Given the description of an element on the screen output the (x, y) to click on. 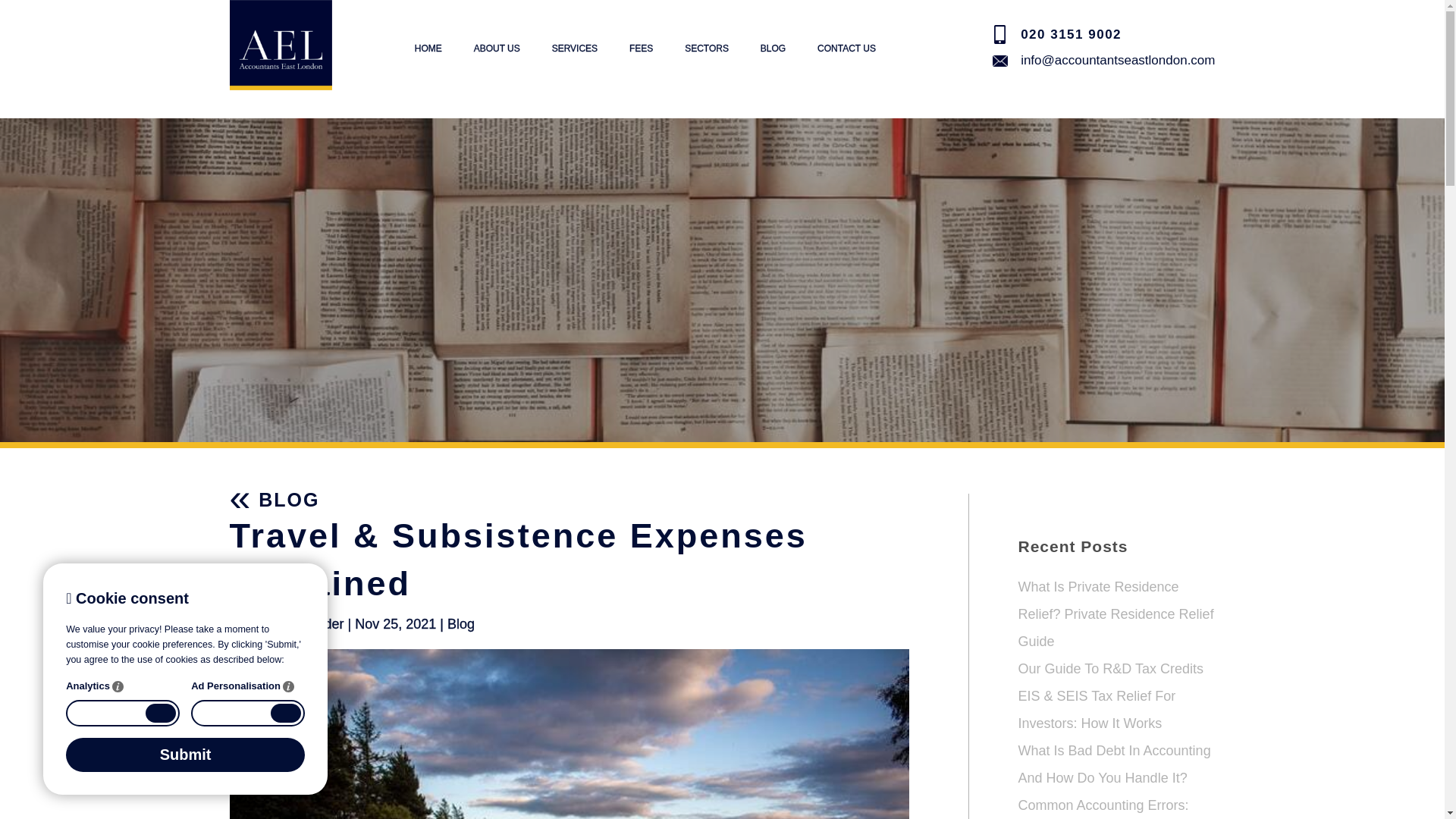
Blog (460, 623)
SECTORS (706, 49)
HOME (428, 49)
ABOUT US (496, 49)
020 3151 9002 (1070, 34)
FEES (640, 49)
SERVICES (573, 49)
What Is Bad Debt In Accounting And How Do You Handle It? (1113, 763)
CONTACT US (846, 49)
Submit (184, 754)
BLOG (773, 49)
